Given the description of an element on the screen output the (x, y) to click on. 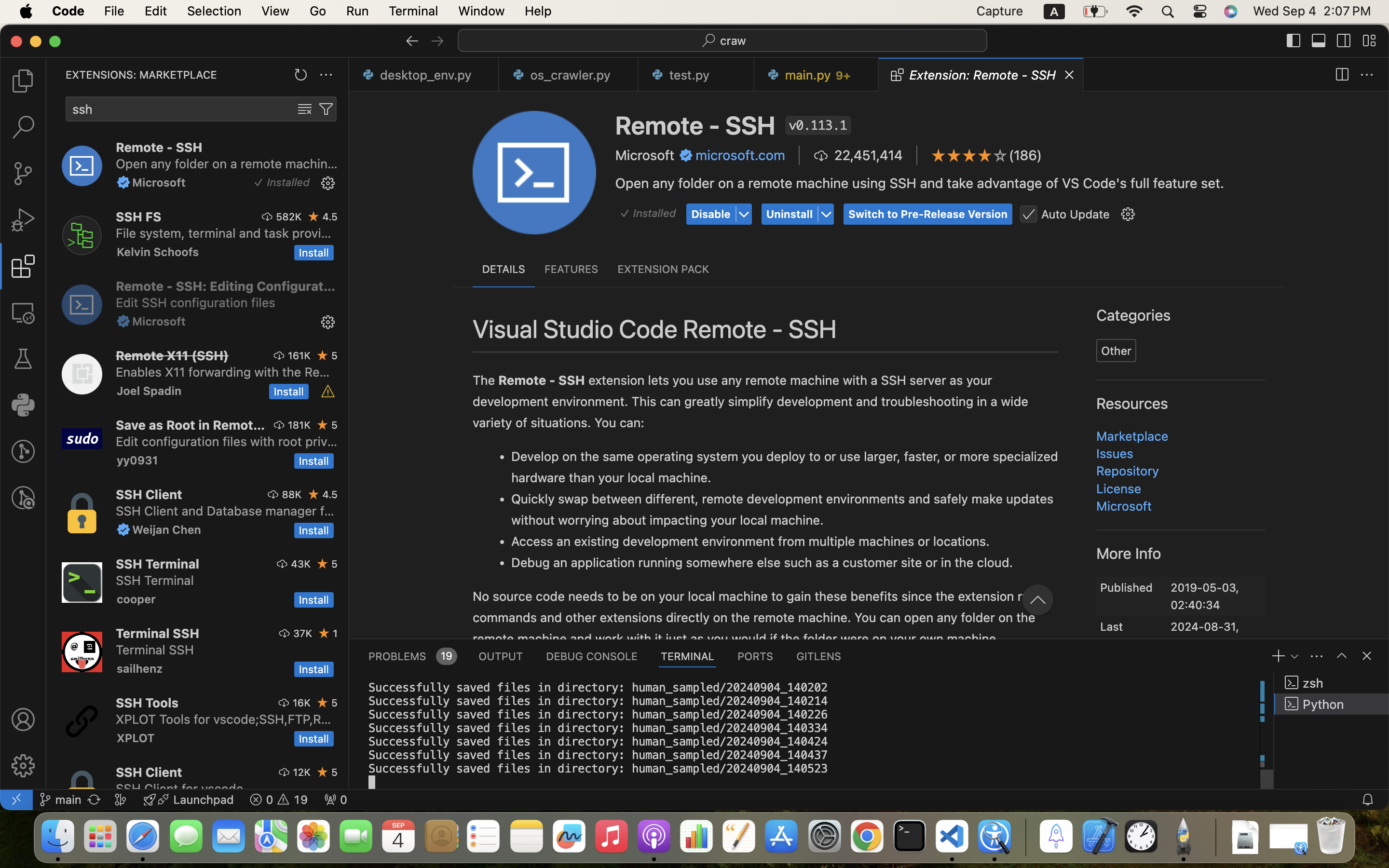
 Element type: AXButton (1127, 214)
Published Element type: AXStaticText (1126, 587)
 Element type: AXButton (412, 40)
Terminal SSH Element type: AXStaticText (157, 632)
XPLOT Element type: AXStaticText (135, 737)
